Given the description of an element on the screen output the (x, y) to click on. 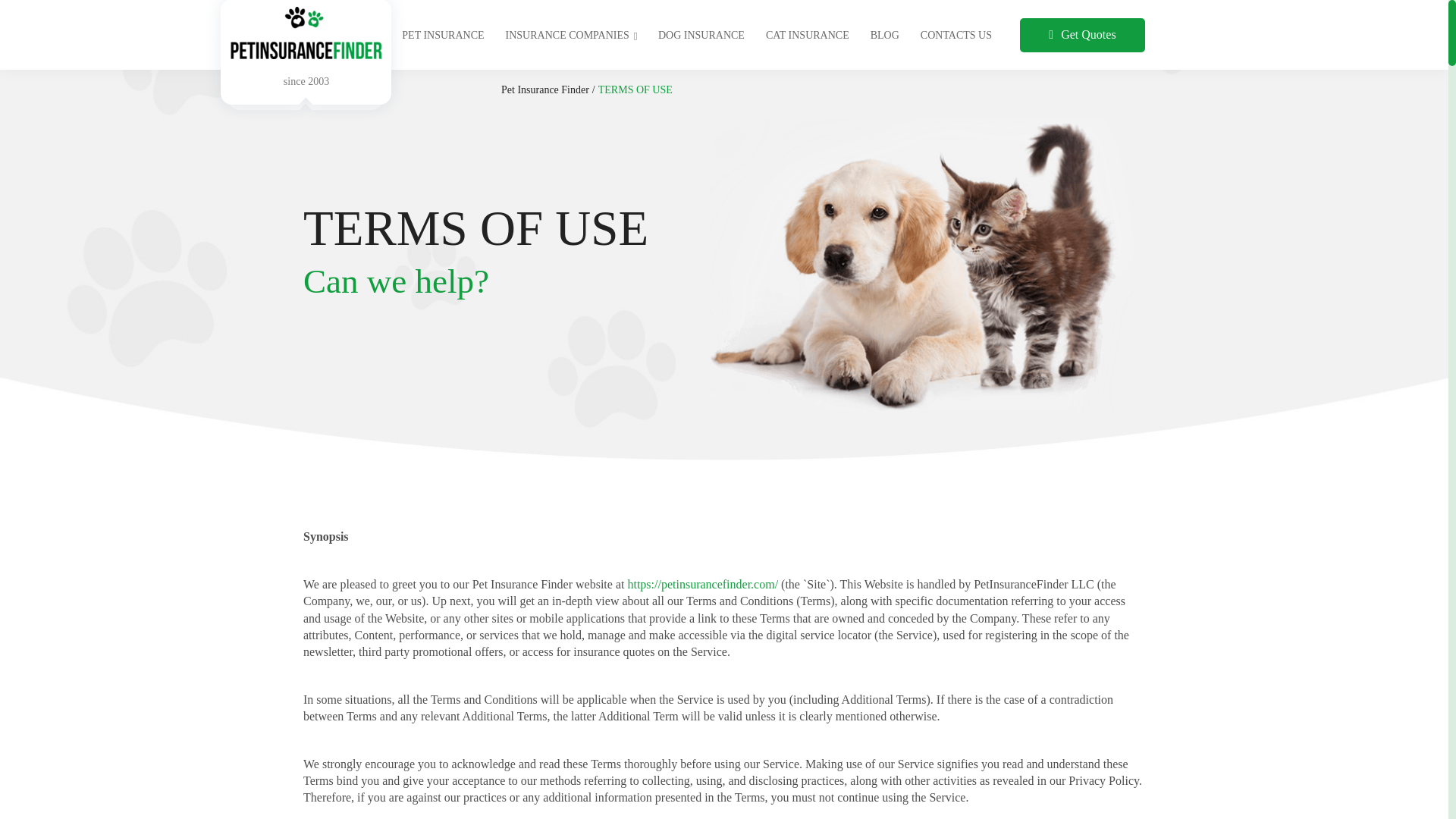
BLOG (884, 34)
CONTACTS US (955, 34)
since 2003 (306, 63)
CAT INSURANCE (806, 34)
DOG INSURANCE (701, 34)
Pet Insurance Finder (544, 89)
INSURANCE COMPANIES (571, 35)
Get Quotes (1082, 35)
PET INSURANCE (442, 34)
